Given the description of an element on the screen output the (x, y) to click on. 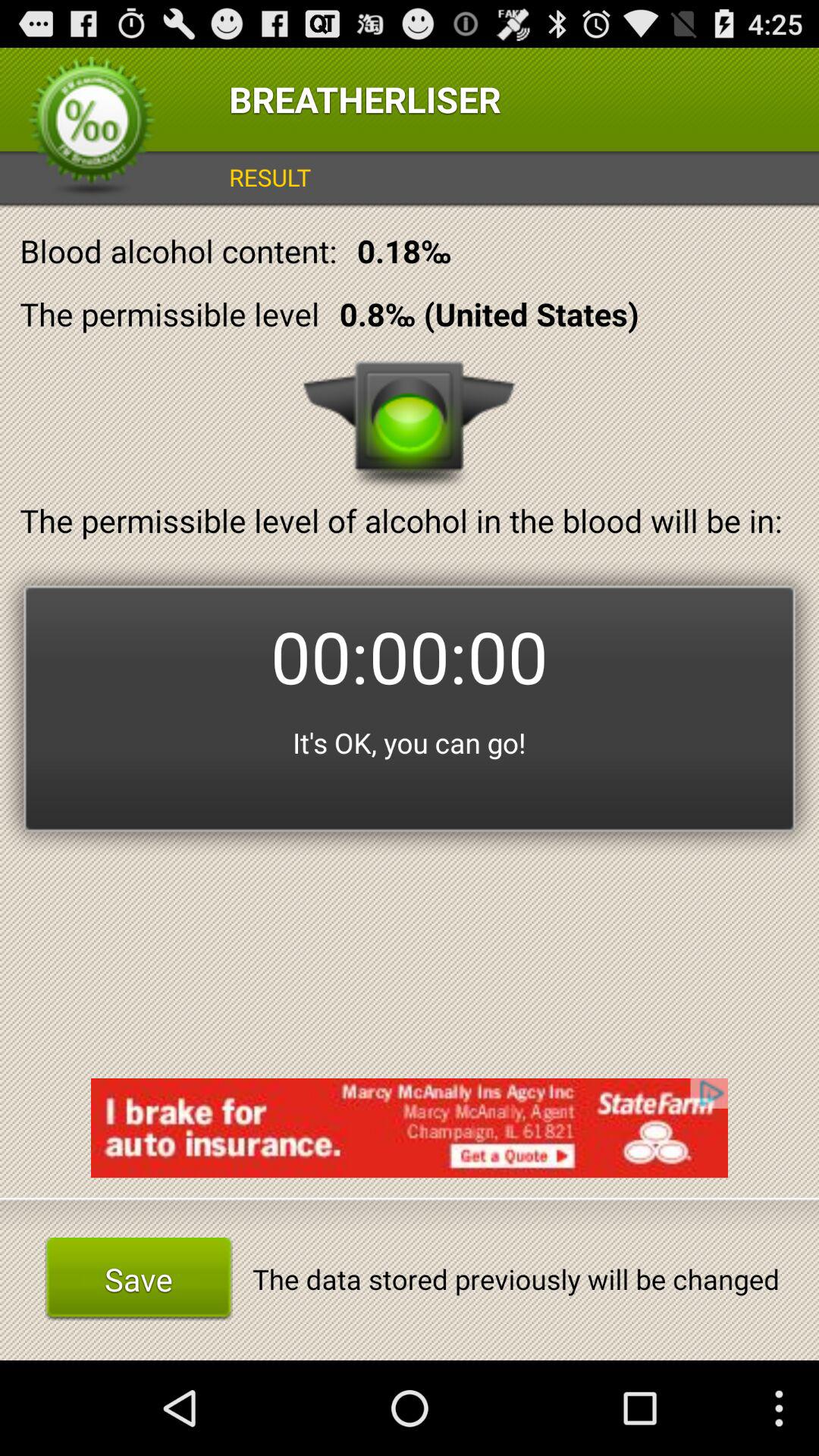
choose the item below it s ok app (409, 1127)
